Given the description of an element on the screen output the (x, y) to click on. 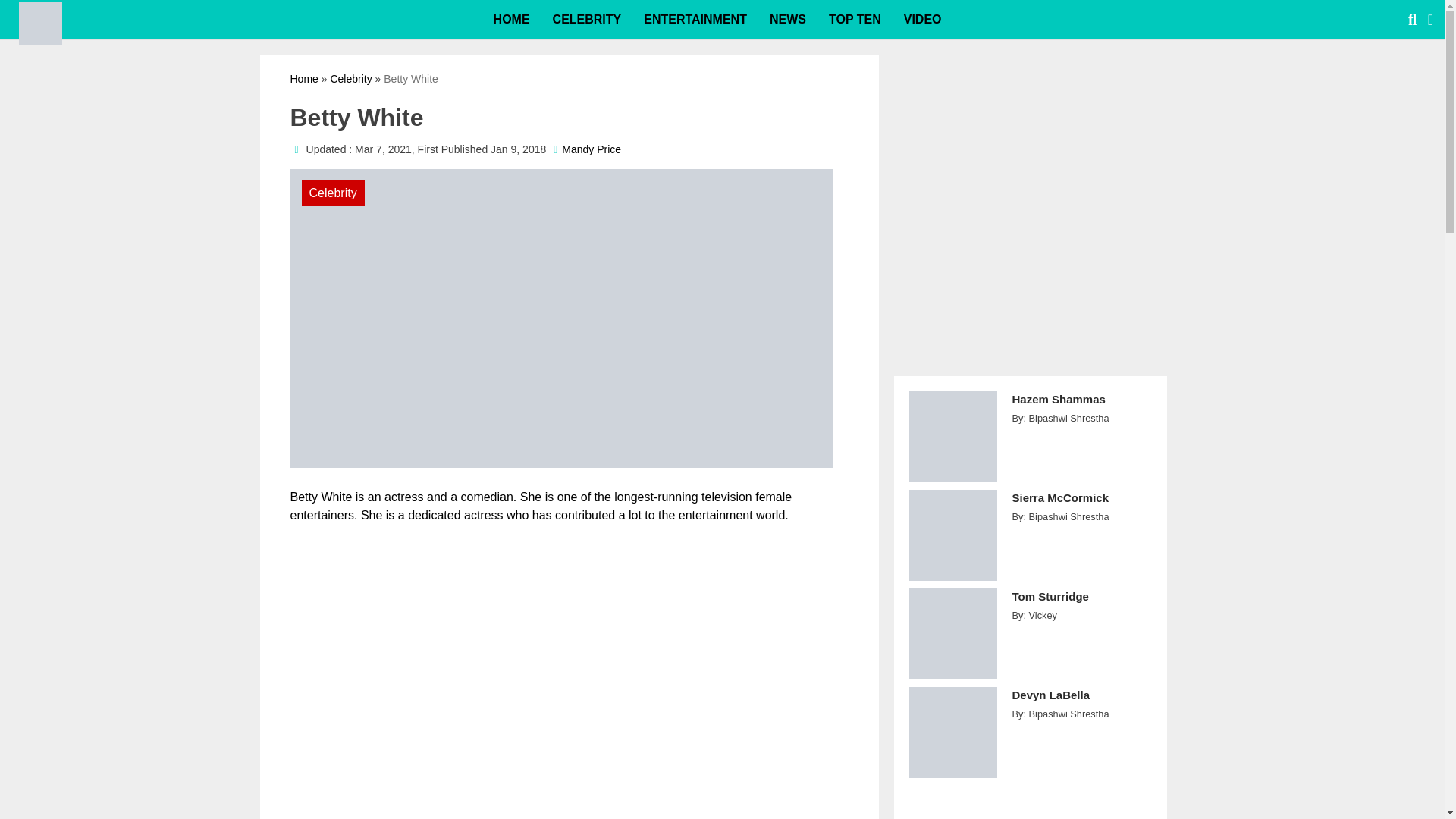
Sierra McCormick (1081, 505)
CELEBRITY (587, 19)
HOME (511, 19)
Mandy Price (591, 149)
VIDEO (922, 19)
Celebrity (350, 78)
NEWS (787, 19)
Home (303, 78)
Mandy Price (591, 149)
ENTERTAINMENT (694, 19)
TOP TEN (854, 19)
Hazem Shammas (1081, 407)
